Given the description of an element on the screen output the (x, y) to click on. 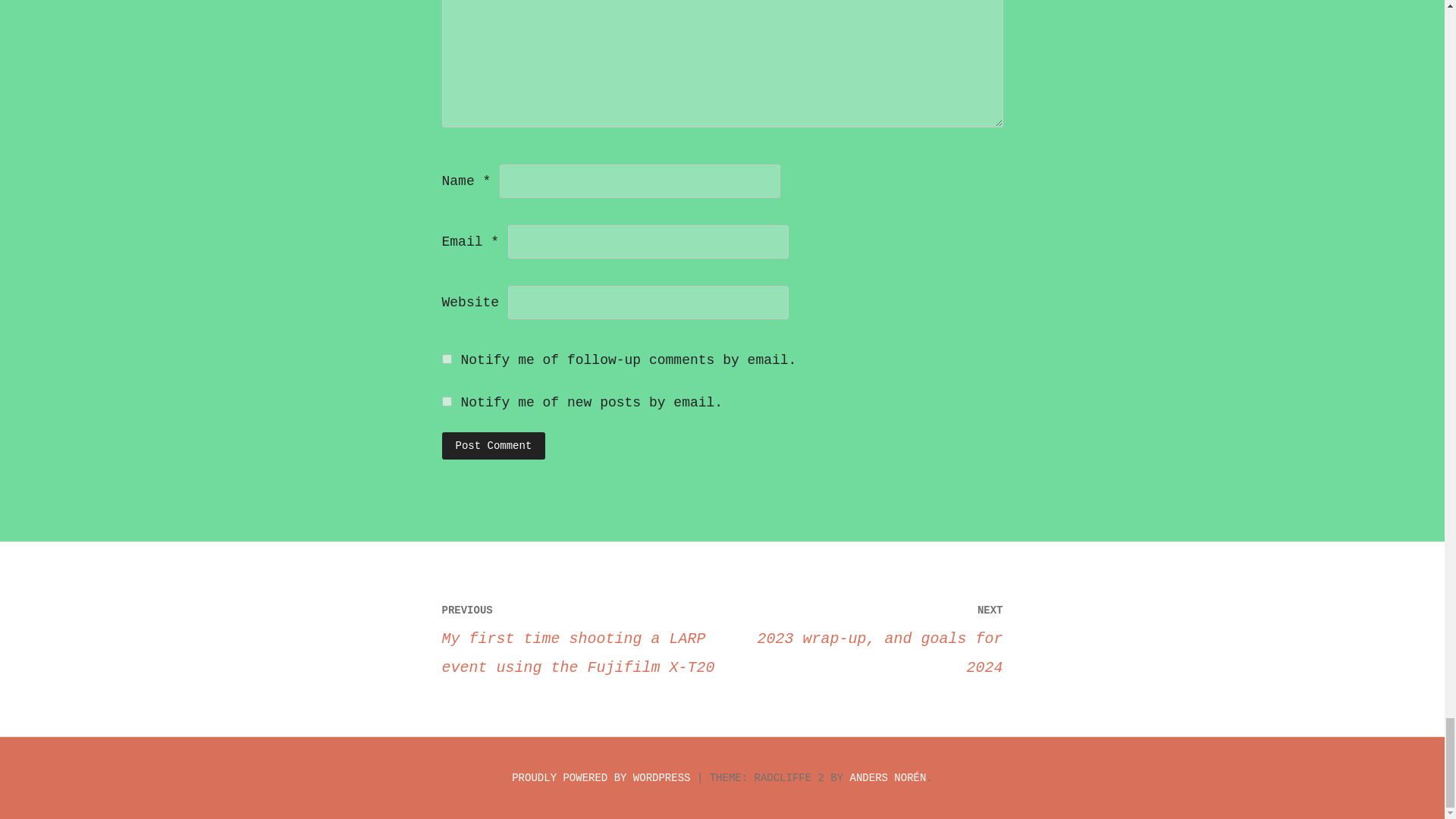
Post Comment (862, 636)
Post Comment (492, 445)
subscribe (492, 445)
PROUDLY POWERED BY WORDPRESS (446, 358)
subscribe (601, 777)
